Given the description of an element on the screen output the (x, y) to click on. 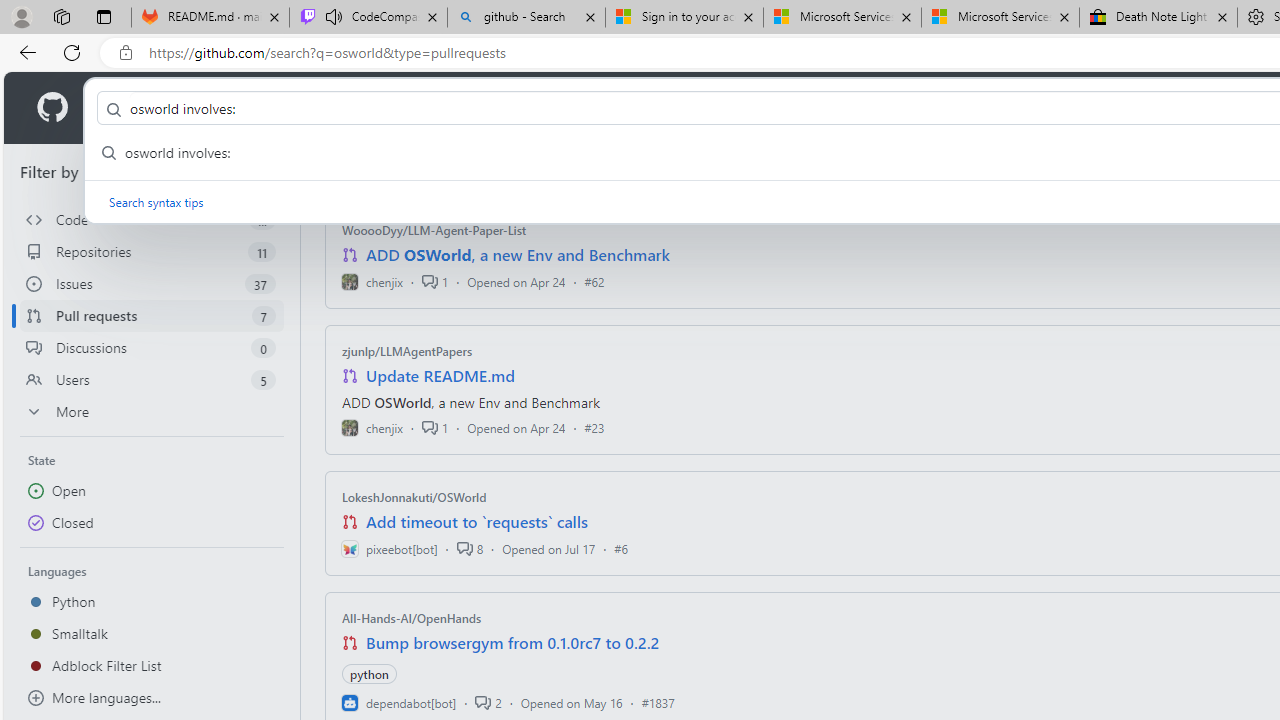
Enterprise (563, 107)
#6 (621, 548)
#1837 (657, 702)
Solutions (225, 107)
More languages... (152, 697)
dependabot[bot] (398, 702)
Pricing (649, 107)
zjunlp/LLMAgentPapers (407, 351)
Product (130, 107)
WooooDyy/LLM-Agent-Paper-List (434, 230)
